Given the description of an element on the screen output the (x, y) to click on. 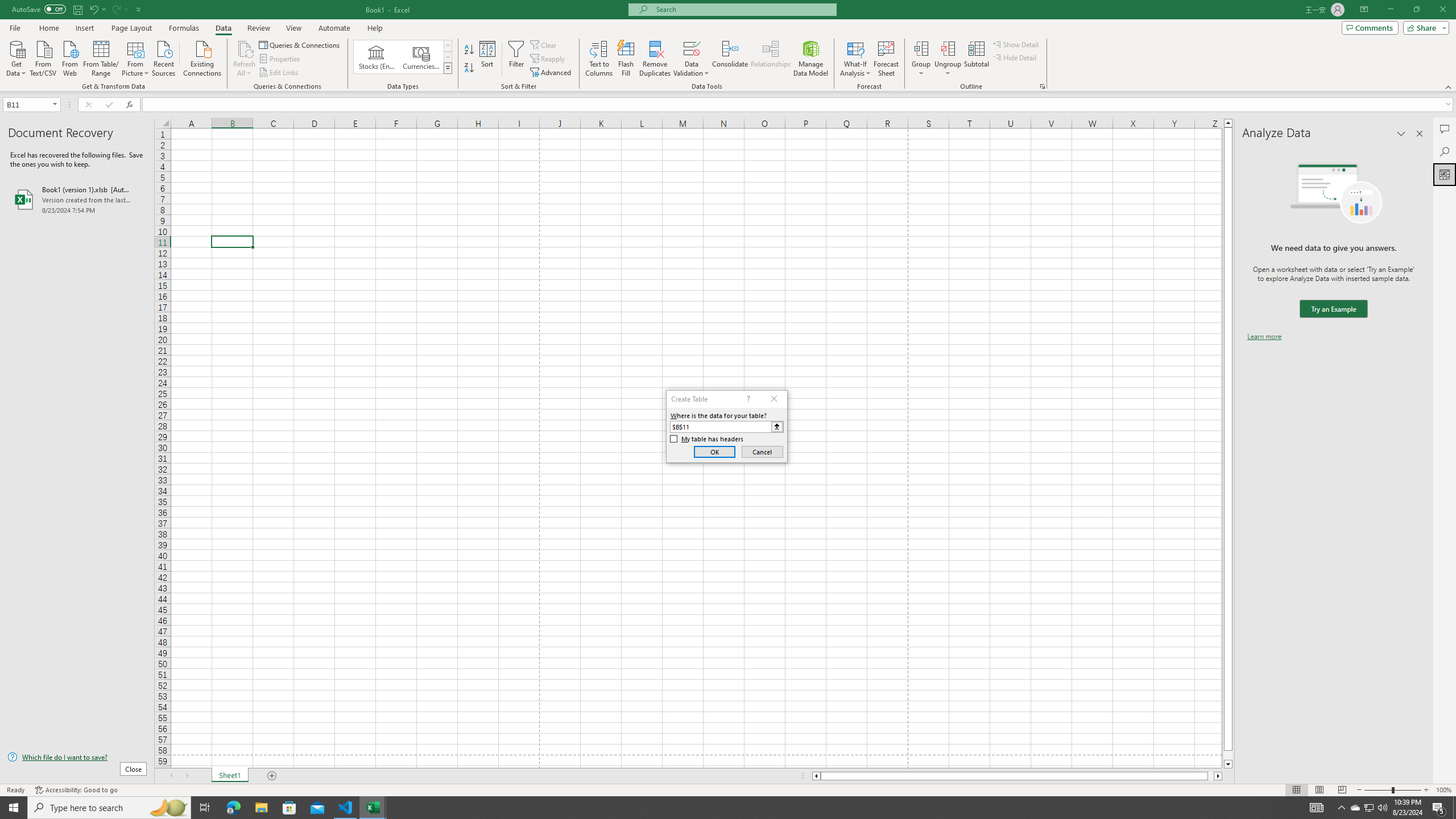
Queries & Connections (300, 44)
Data Types (448, 67)
